Given the description of an element on the screen output the (x, y) to click on. 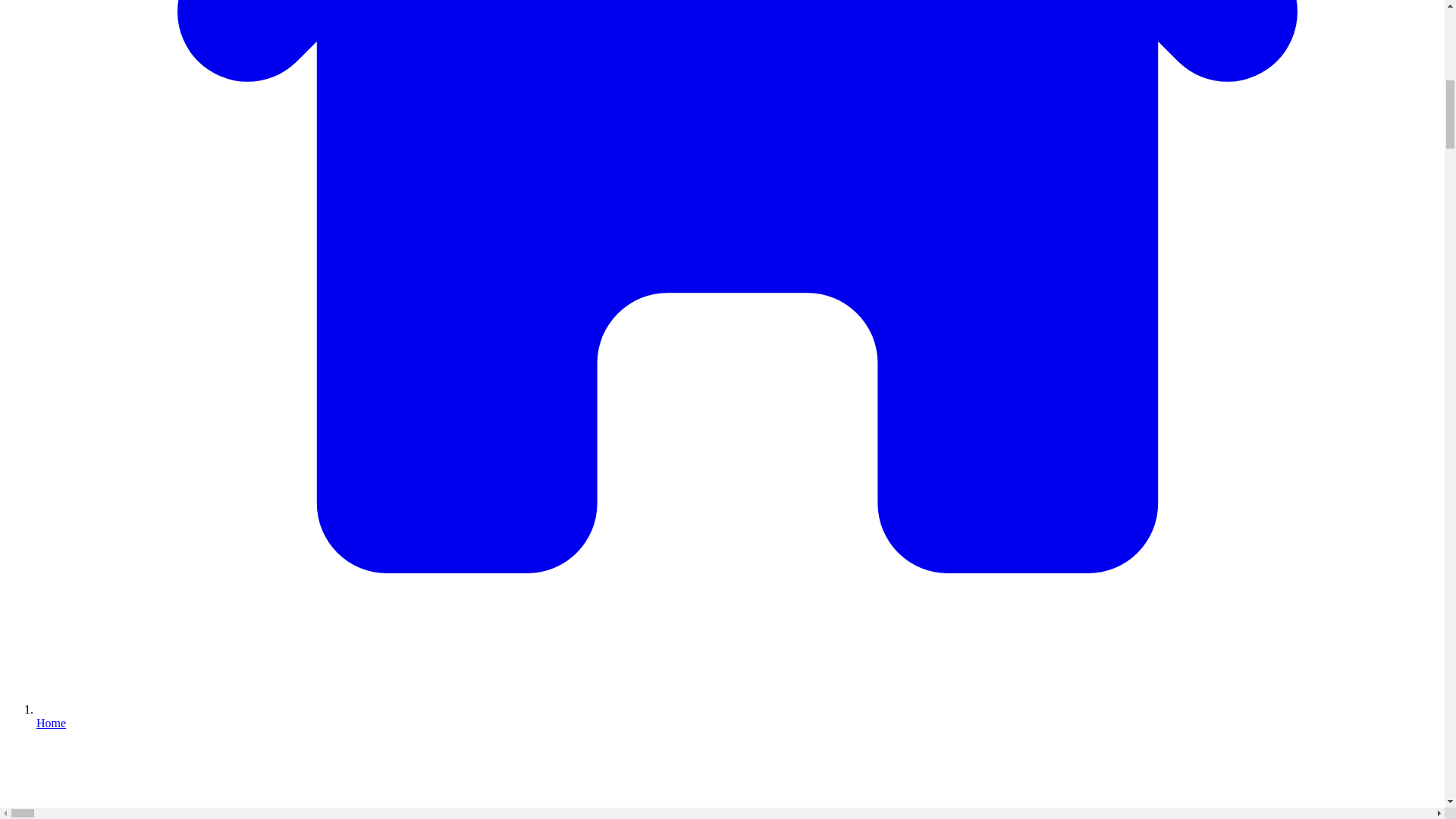
Home (737, 715)
